Given the description of an element on the screen output the (x, y) to click on. 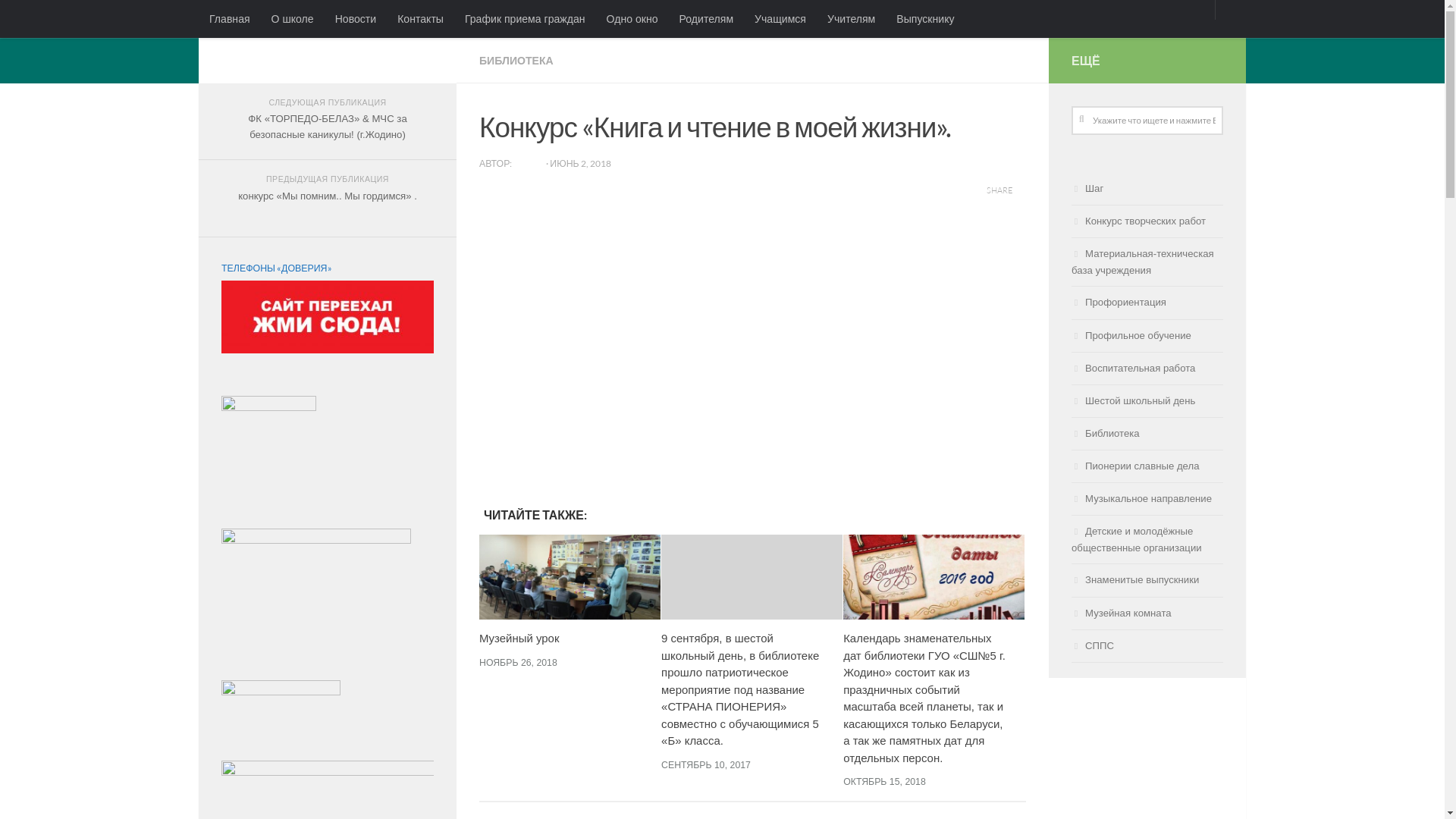
ADMIN Element type: text (528, 163)
